Given the description of an element on the screen output the (x, y) to click on. 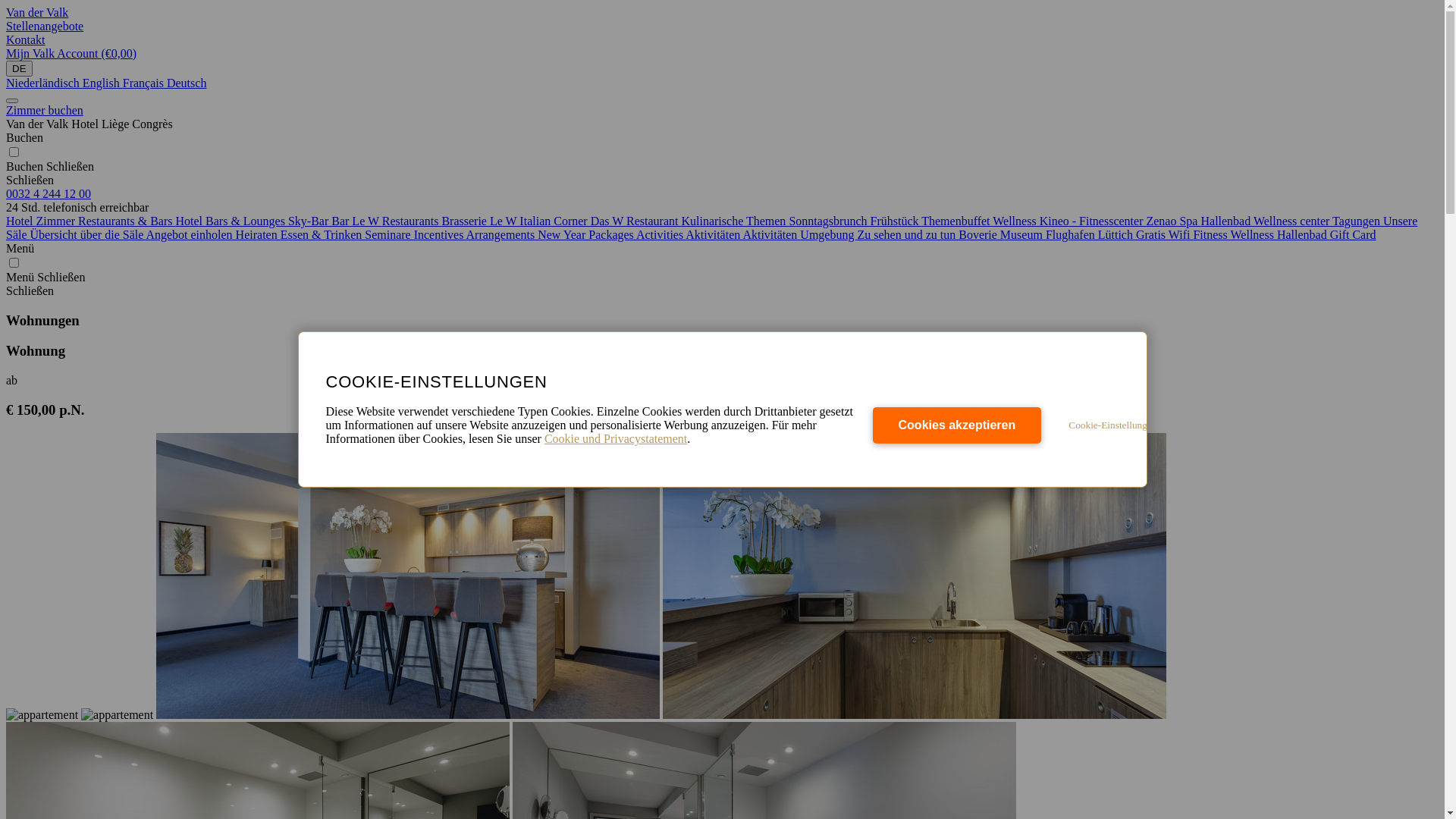
Umgebung Element type: text (828, 234)
Van der Valk Element type: text (37, 12)
Angebot einholen Element type: text (190, 234)
Heiraten Element type: text (257, 234)
Kontakt Element type: text (722, 40)
Fitness Element type: text (1211, 234)
Zimmer Element type: text (57, 220)
Kulinarische Themen Element type: text (734, 220)
Hallenbad Element type: text (1226, 220)
Bar Le W Element type: text (356, 220)
Essen & Trinken Element type: text (322, 234)
Sonntagsbrunch Element type: text (828, 220)
Boverie Museum Element type: text (1001, 234)
Gift Card Element type: text (1353, 234)
Seminare Element type: text (388, 234)
Zu sehen und zu tun Element type: text (907, 234)
Themenbuffet Element type: text (956, 220)
Hallenbad Element type: text (1303, 234)
Cookie-Einstellungen Element type: text (1112, 425)
Deutsch Element type: text (186, 82)
Hotel Element type: text (21, 220)
Stellenangebote Element type: text (722, 26)
Zimmer buchen Element type: text (44, 109)
Zenao Spa Element type: text (1172, 220)
0032 4 244 12 00 Element type: text (48, 193)
Wellness Element type: text (1015, 220)
Arrangements Element type: text (502, 234)
New Year Packages Element type: text (586, 234)
DE Element type: text (19, 68)
Restaurants & Bars Element type: text (126, 220)
Italian Corner Element type: text (554, 220)
English Element type: text (102, 82)
Cookie und Privacystatement Element type: text (615, 438)
Kineo - Fitnesscenter Element type: text (1092, 220)
Activities Element type: text (660, 234)
Incentives Element type: text (440, 234)
Restaurants Element type: text (412, 220)
Hotel Bars & Lounges Element type: text (231, 220)
Gratis Wifi Element type: text (1164, 234)
Das W Restaurant Element type: text (635, 220)
Sky-Bar Element type: text (309, 220)
Brasserie Le W Element type: text (480, 220)
Wellness Element type: text (1253, 234)
Cookies akzeptieren Element type: text (956, 425)
Wellness center Element type: text (1292, 220)
Tagungen Element type: text (1357, 220)
